Given the description of an element on the screen output the (x, y) to click on. 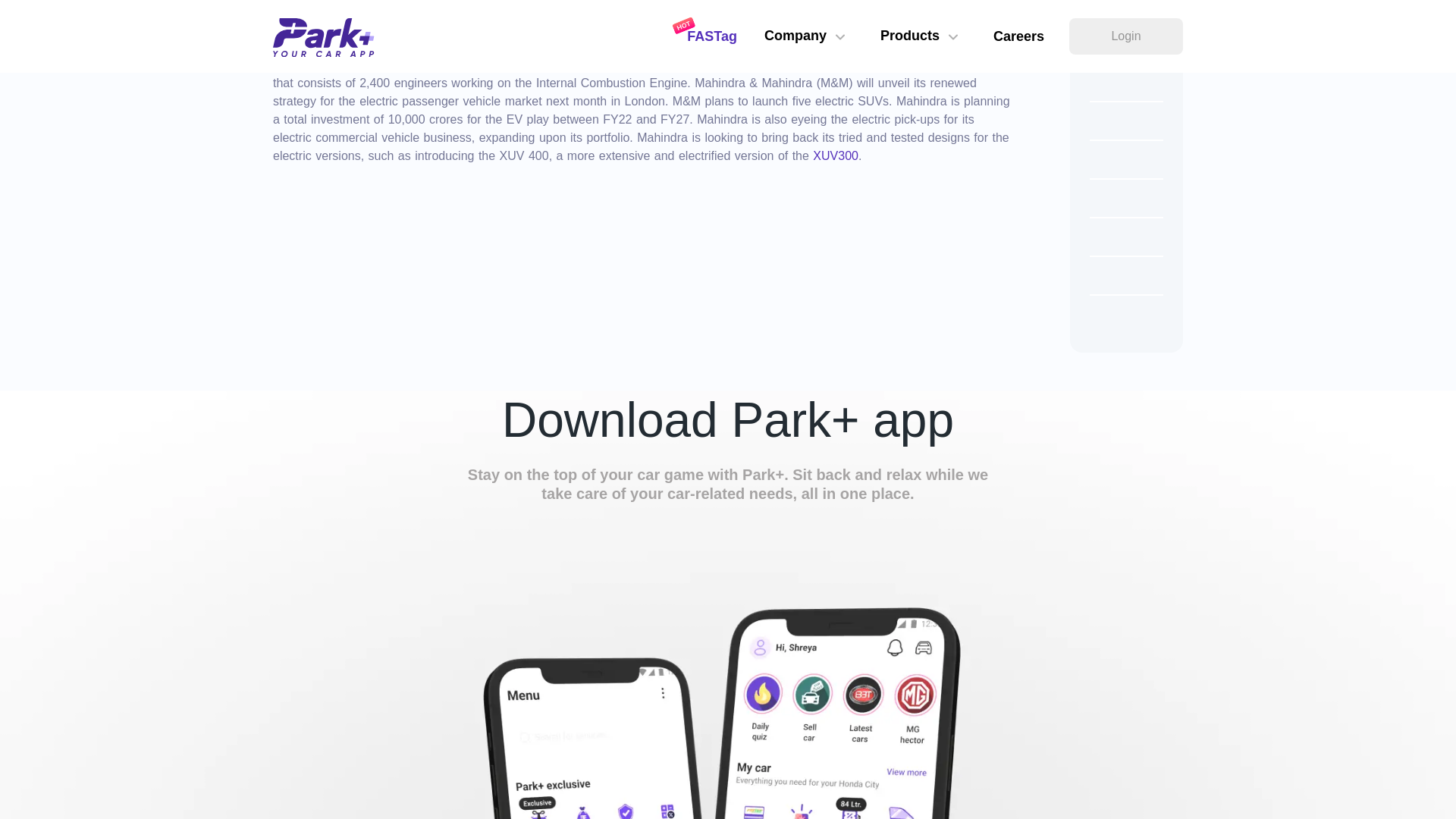
XUV300 (835, 155)
